Given the description of an element on the screen output the (x, y) to click on. 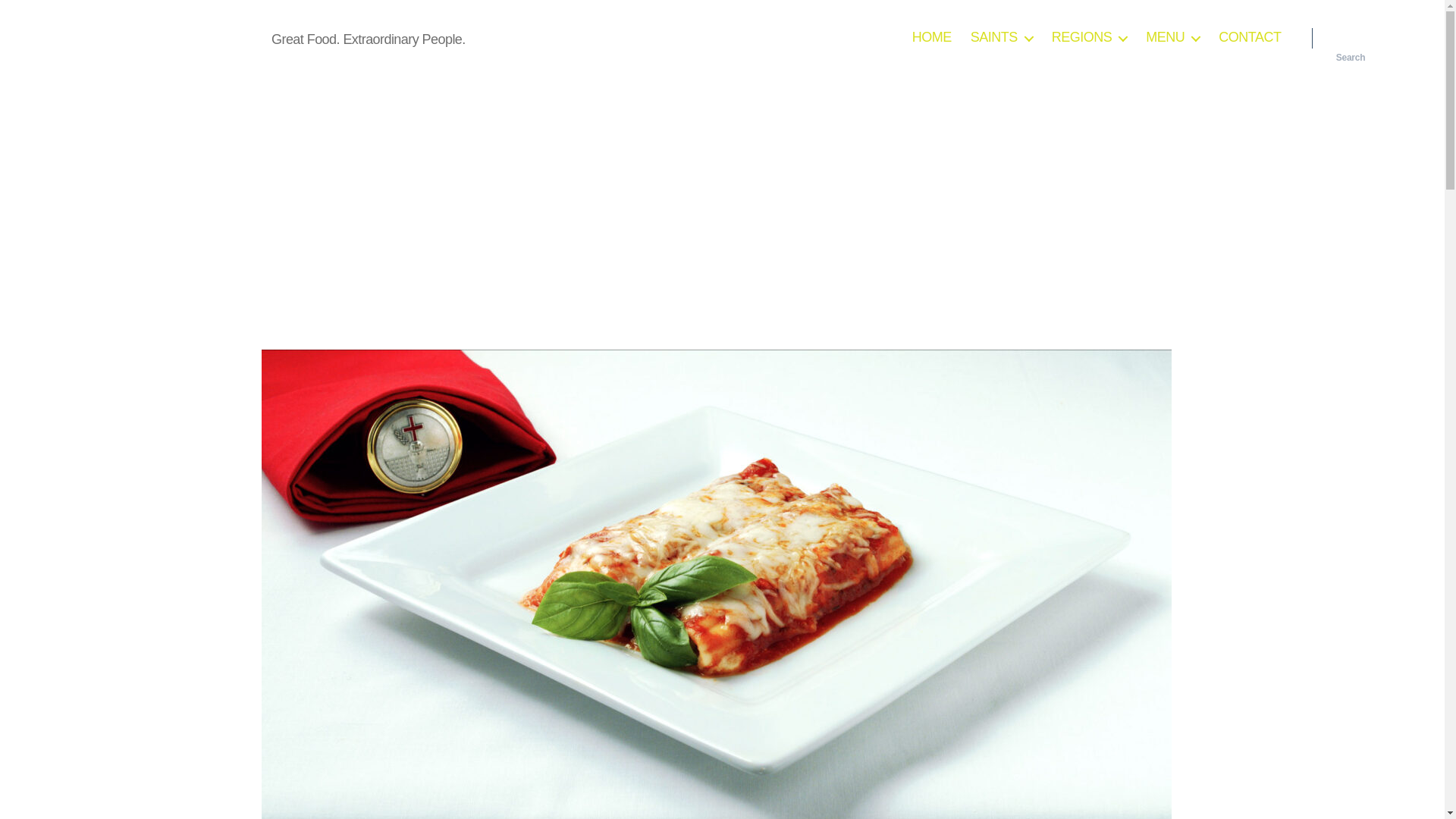
HOME (932, 37)
REGIONS (1088, 37)
Feast With the Saints (168, 37)
CONTACT (1249, 37)
SAINTS (1001, 37)
Search (1350, 37)
MENU (1172, 37)
